Given the description of an element on the screen output the (x, y) to click on. 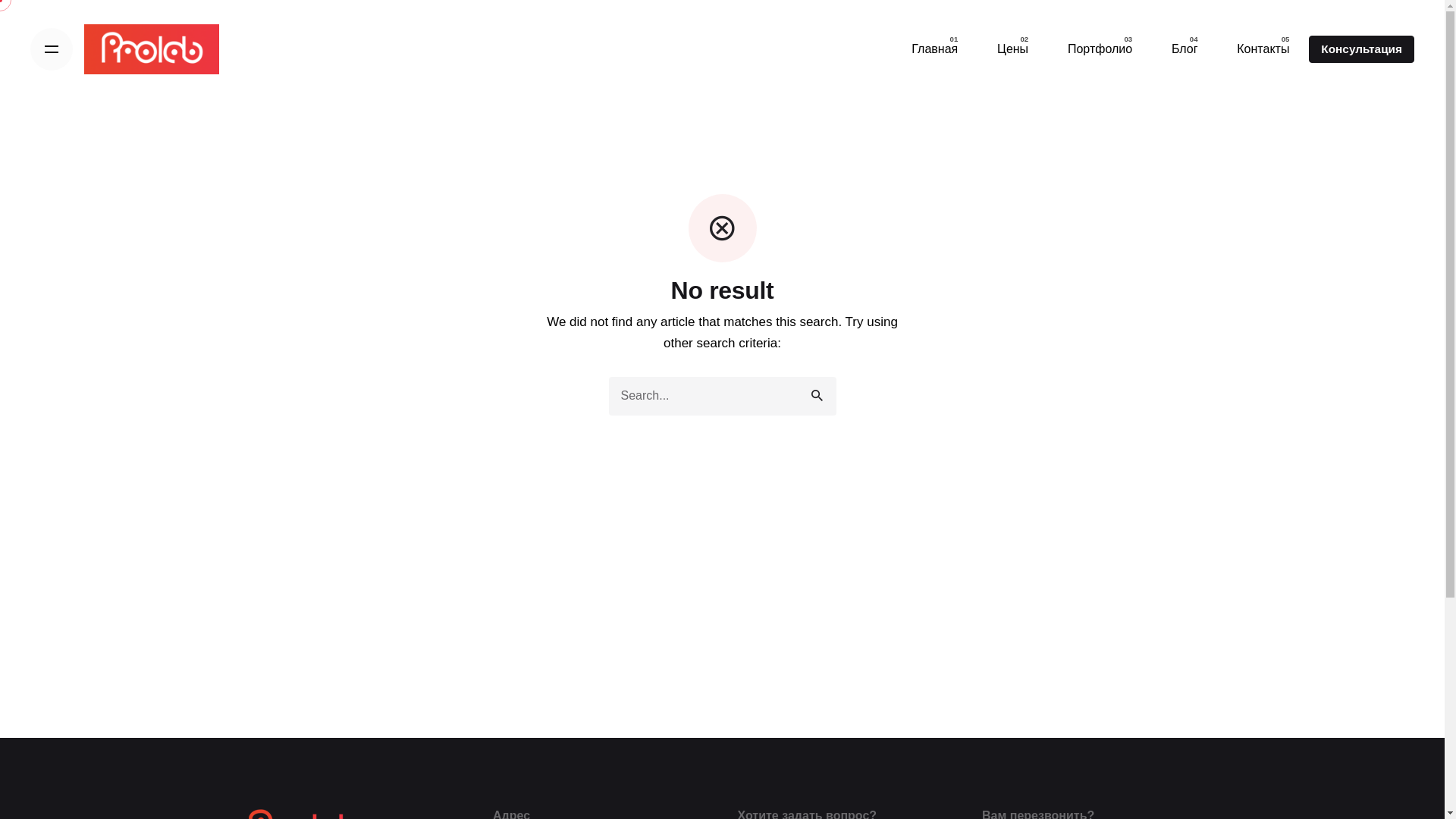
Skip to content Element type: text (0, 0)
